Given the description of an element on the screen output the (x, y) to click on. 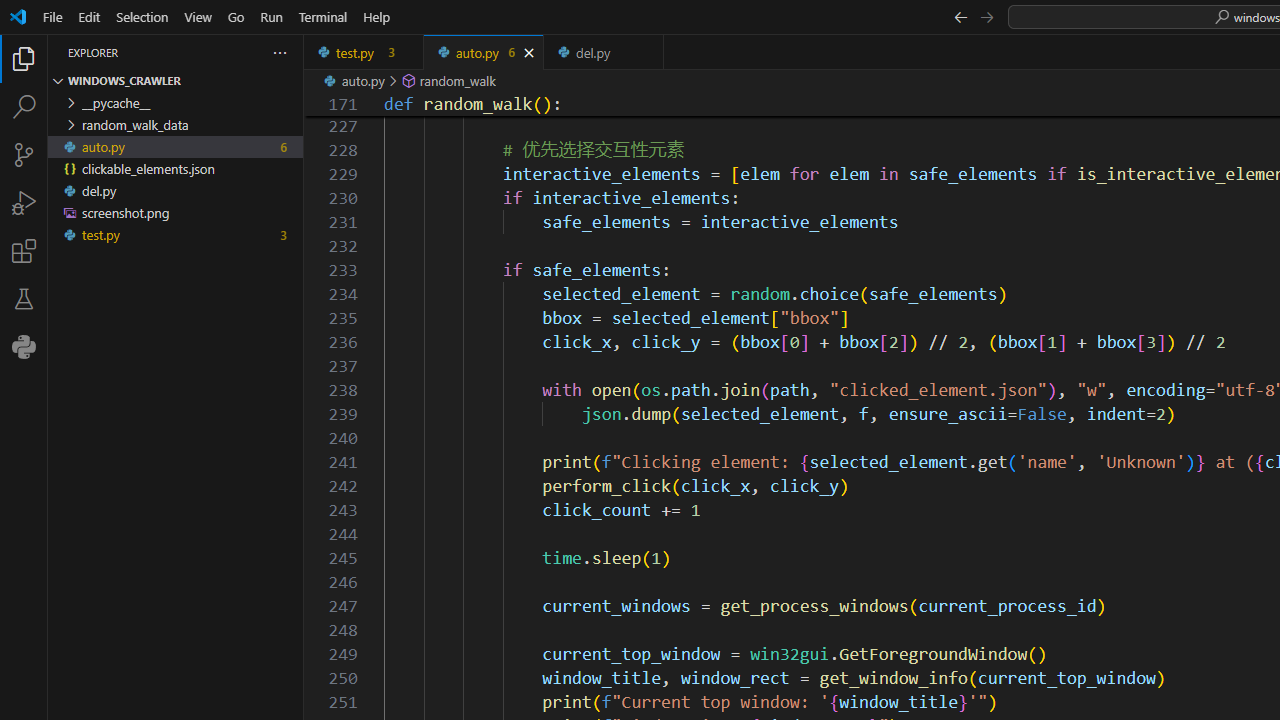
Go Forward (Alt+RightArrow) (986, 16)
del.py (604, 52)
Search (Ctrl+Shift+F) (24, 106)
Terminal (322, 16)
Explorer (Ctrl+Shift+E) (24, 58)
Tab actions (648, 52)
Run and Debug (Ctrl+Shift+D) (24, 202)
Python (24, 346)
Extensions (Ctrl+Shift+X) (24, 250)
Source Control (Ctrl+Shift+G) (24, 155)
View (198, 16)
